Given the description of an element on the screen output the (x, y) to click on. 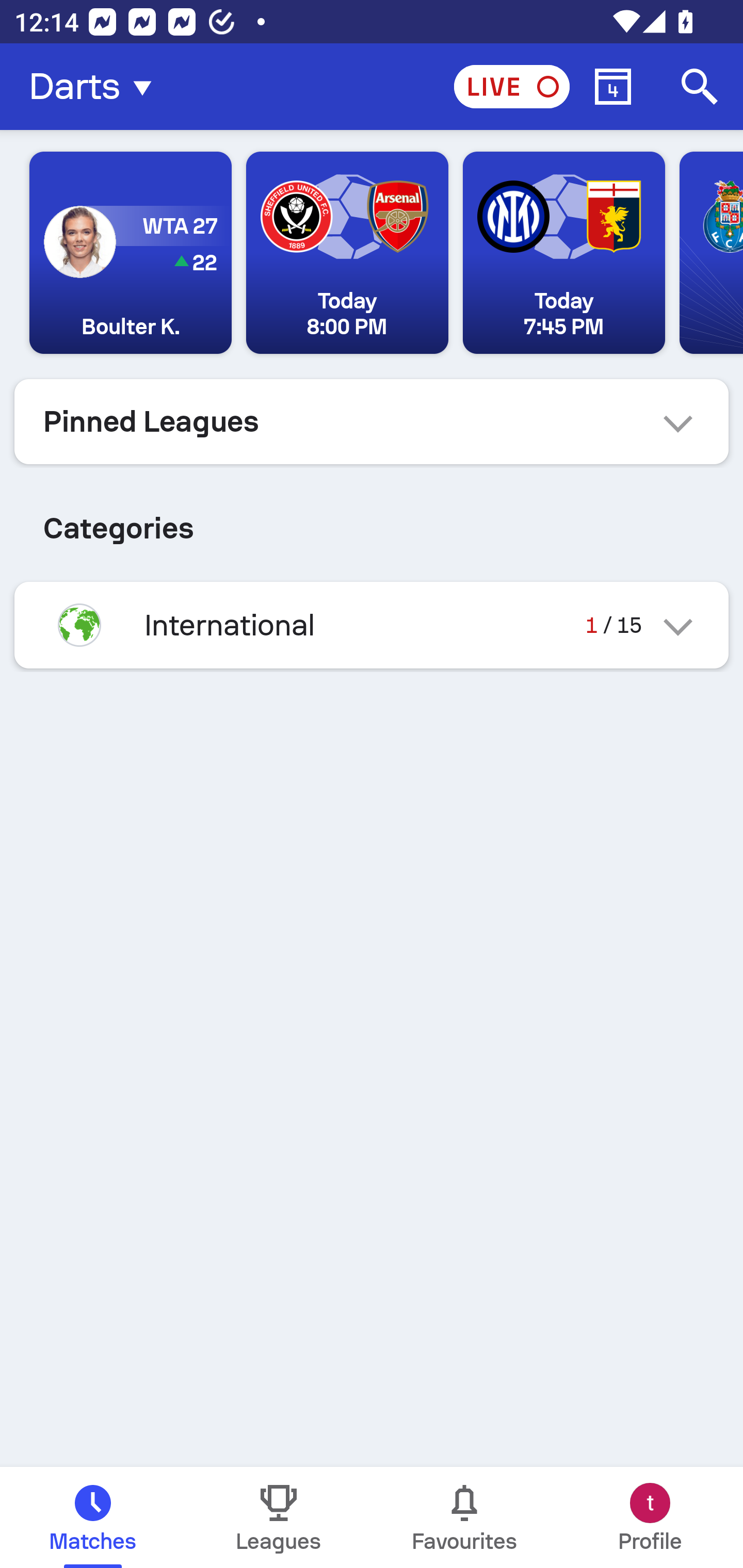
Darts (96, 86)
Calendar (612, 86)
Search (699, 86)
WTA 27 22 Boulter K. (130, 253)
Today
8:00 PM (346, 253)
Today
7:45 PM (563, 253)
Pinned Leagues (371, 421)
Categories (371, 520)
International 1 / 15 (371, 624)
Leagues (278, 1517)
Favourites (464, 1517)
Profile (650, 1517)
